Given the description of an element on the screen output the (x, y) to click on. 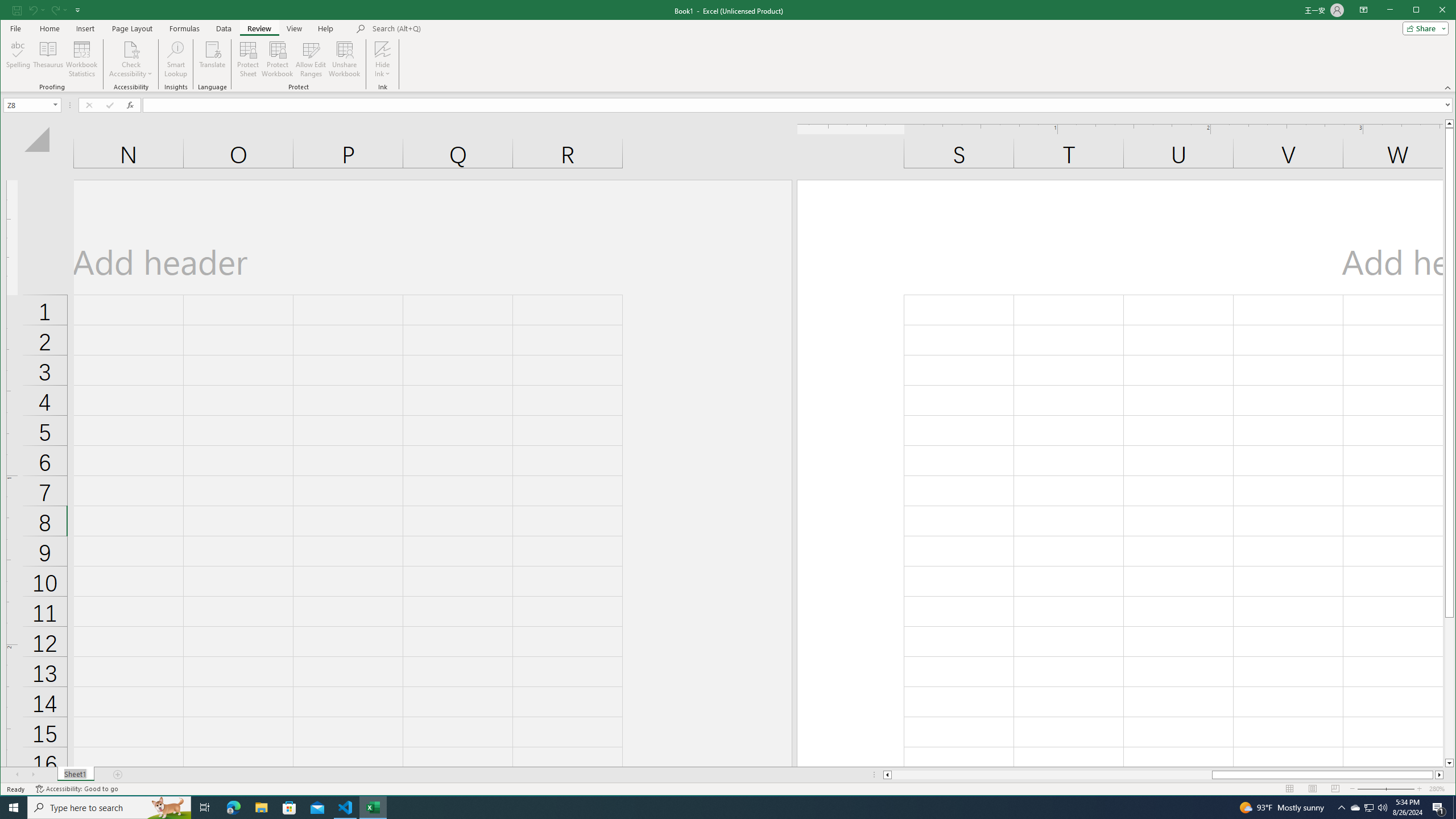
Undo (32, 9)
Zoom (1384, 788)
Formula Bar (799, 104)
Running applications (717, 807)
Microsoft Store (289, 807)
Minimize (1419, 11)
Redo (55, 9)
Q2790: 100% (1382, 807)
Add Sheet (118, 774)
Show desktop (1454, 807)
Protect Workbook... (277, 59)
Line up (1449, 122)
Hide Ink (382, 48)
Undo (36, 9)
Page left (1051, 774)
